Given the description of an element on the screen output the (x, y) to click on. 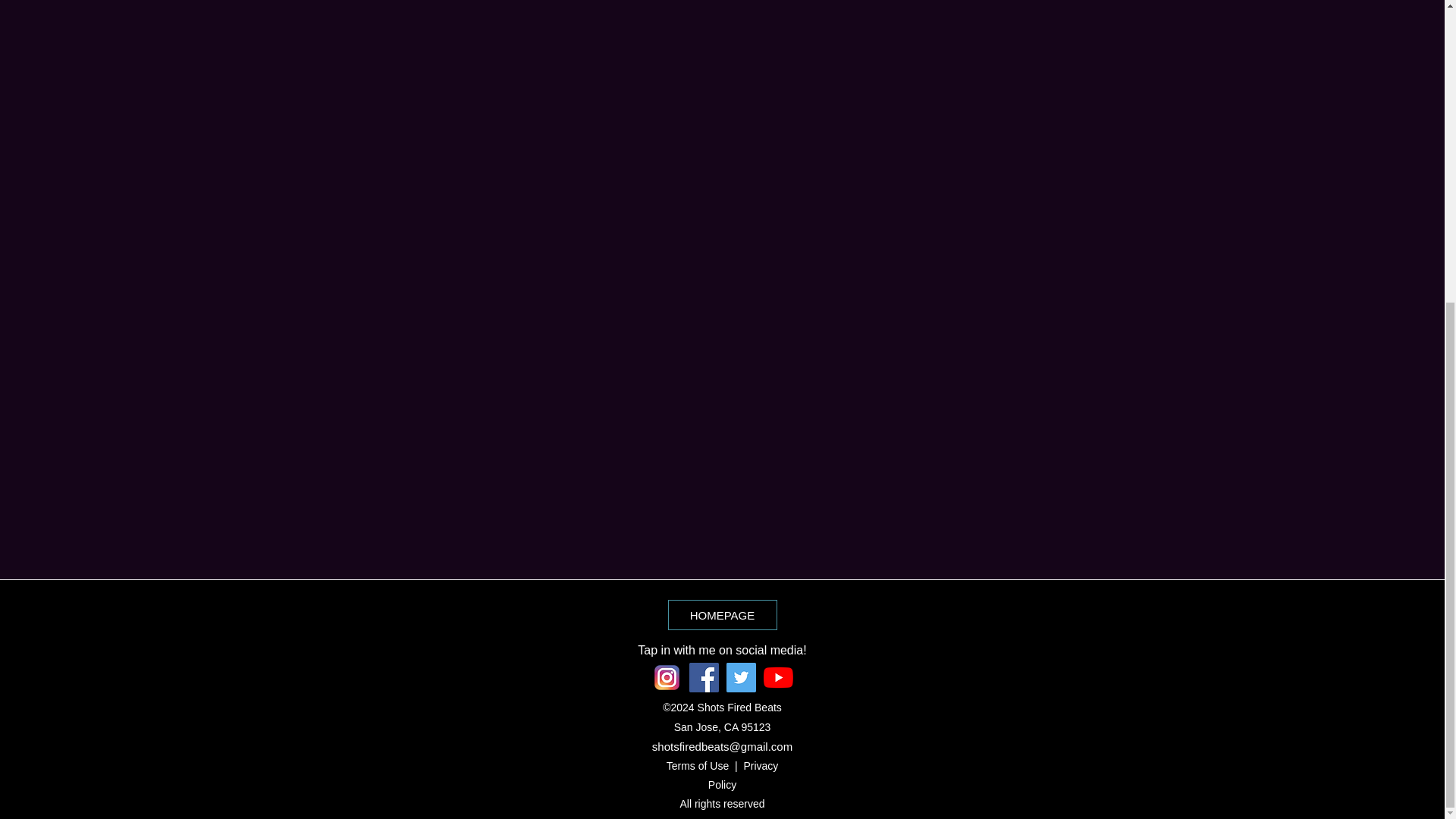
Terms of Use (697, 766)
Privacy Policy (742, 775)
HOMEPAGE (721, 614)
